Given the description of an element on the screen output the (x, y) to click on. 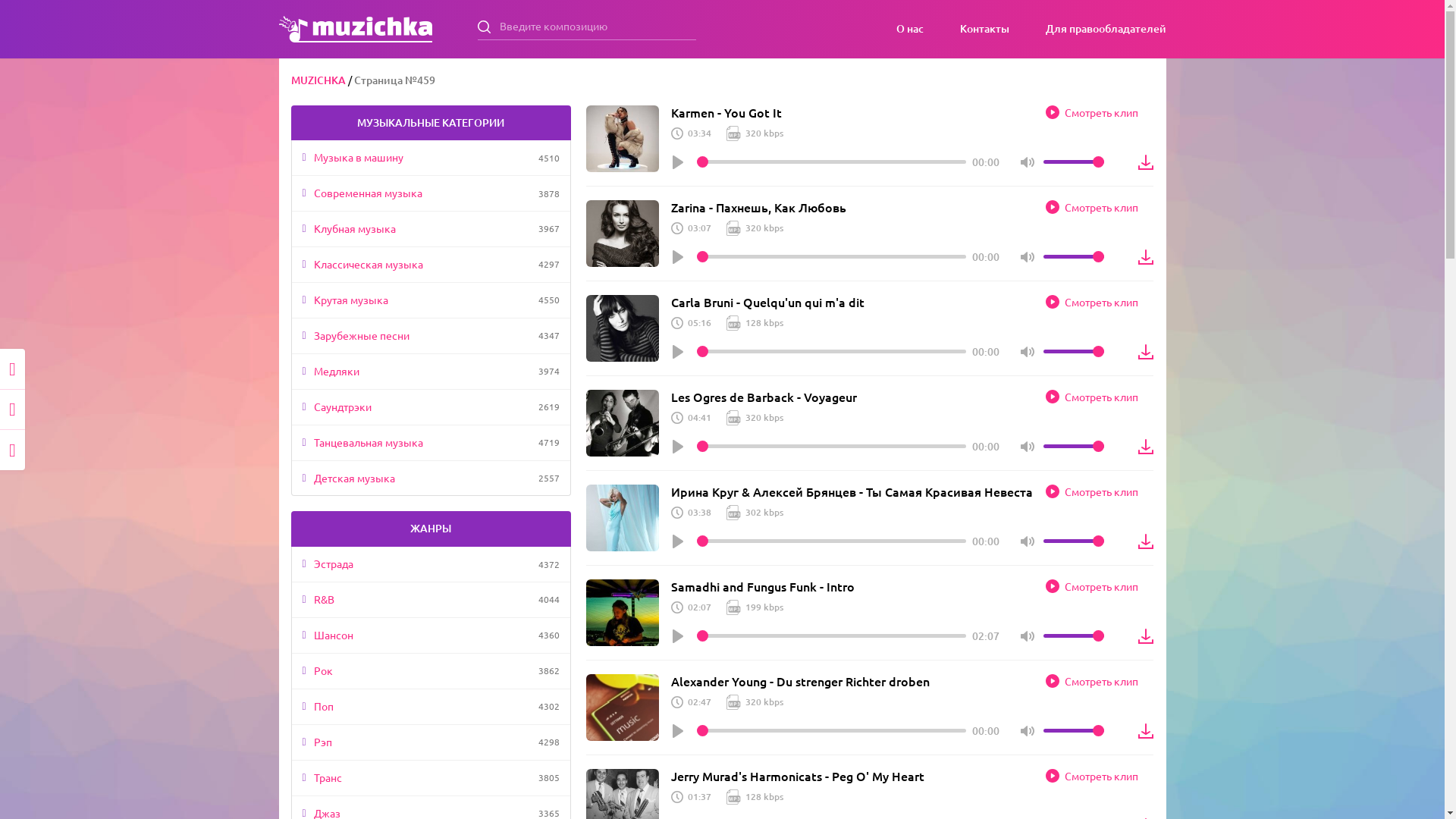
Les Ogres de Barback - Voyageur Element type: text (763, 396)
Mute Element type: text (1027, 256)
Play Element type: text (677, 256)
R&B Element type: text (421, 599)
MUZICHKA Element type: text (318, 79)
Mute Element type: text (1027, 730)
Mute Element type: text (1027, 446)
Play Element type: text (677, 541)
Alexander Young - Du strenger Richter droben Element type: text (800, 681)
Mute Element type: text (1027, 541)
Play Element type: text (677, 730)
Samadhi and Fungus Funk - Intro Element type: text (762, 586)
Play Element type: text (677, 162)
Carla Bruni - Quelqu'un qui m'a dit Element type: text (767, 301)
Play Element type: text (677, 636)
Mute Element type: text (1027, 351)
Karmen - You Got It Element type: text (726, 112)
Mute Element type: text (1027, 636)
Mute Element type: text (1027, 162)
Play Element type: text (677, 446)
Play Element type: text (677, 351)
Jerry Murad's Harmonicats - Peg O' My Heart Element type: text (797, 775)
